Given the description of an element on the screen output the (x, y) to click on. 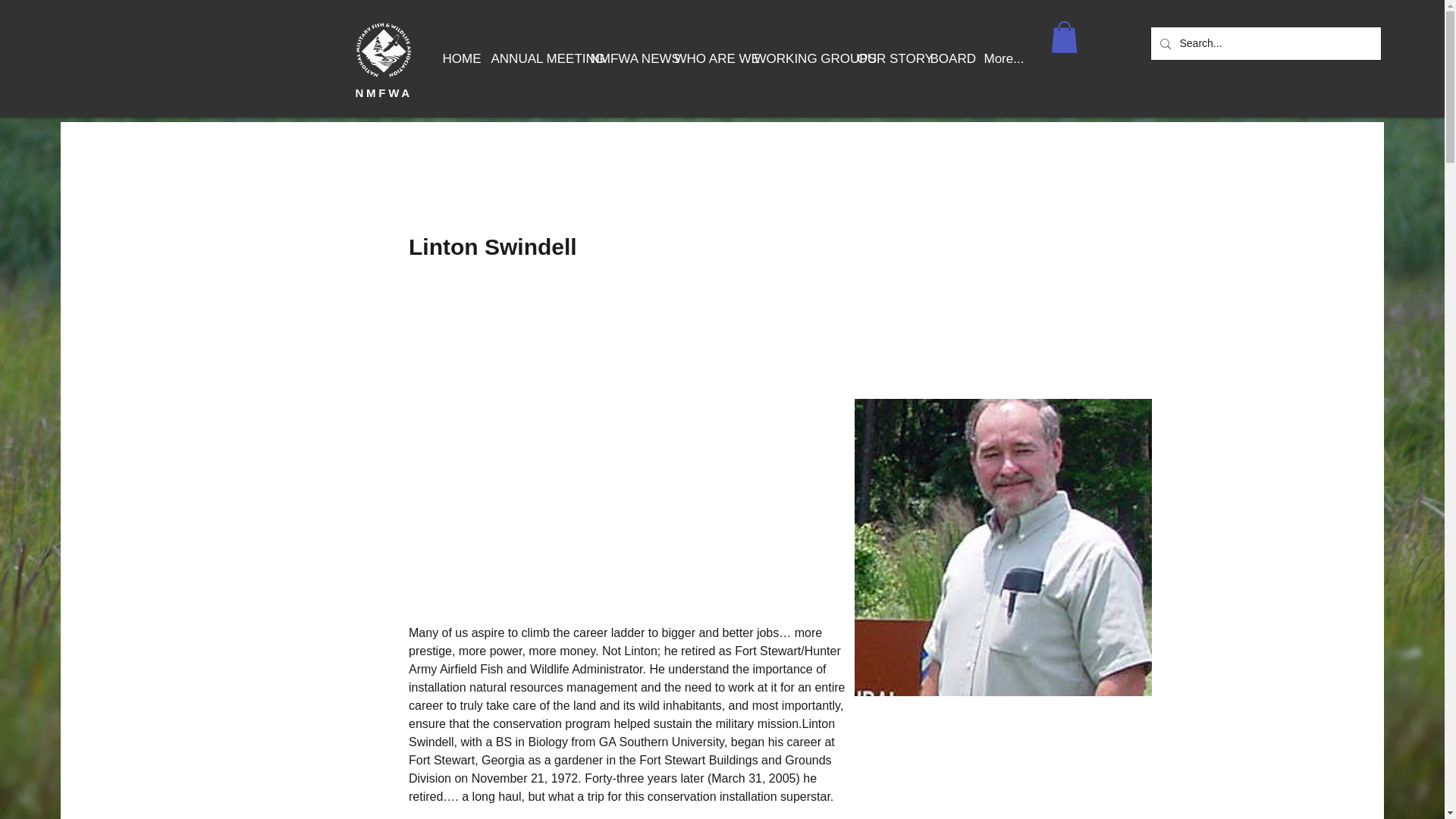
NMFWA (383, 92)
WORKING GROUPS (792, 58)
ANNUAL MEETING (528, 58)
BOARD (944, 58)
HOME (454, 58)
NMFWA NEWS (620, 58)
WHO ARE WE (702, 58)
OUR STORY (880, 58)
